Given the description of an element on the screen output the (x, y) to click on. 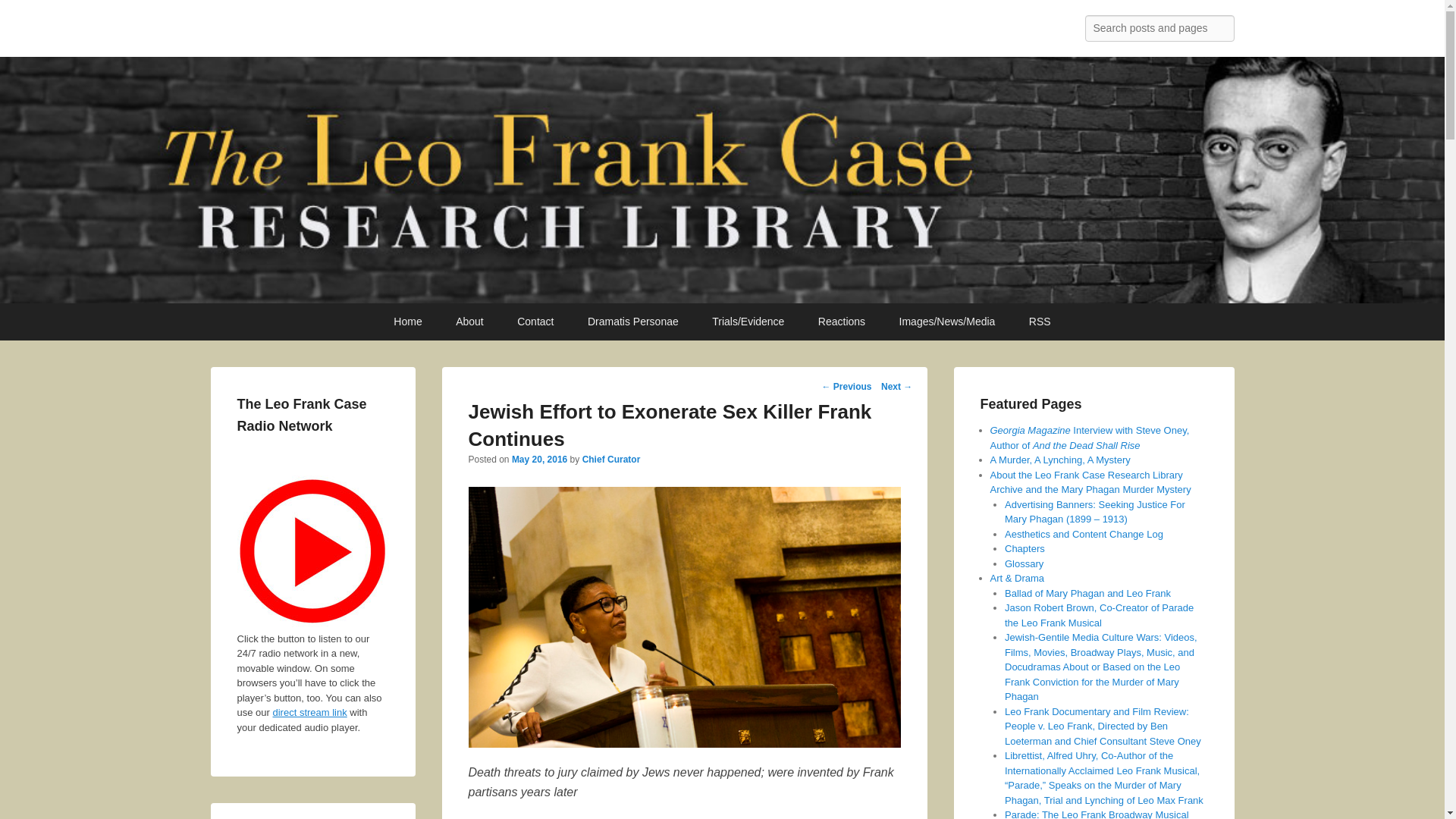
About (470, 321)
Search (24, 14)
Contact (535, 321)
The Leo Frank Case Research Library (455, 31)
Click to open audio player in new, movable window (311, 551)
The Leo Frank Case Research Library (455, 31)
Home (407, 321)
10:04 AM (539, 459)
View all posts by Chief Curator (611, 459)
Dramatis Personae (633, 321)
